Given the description of an element on the screen output the (x, y) to click on. 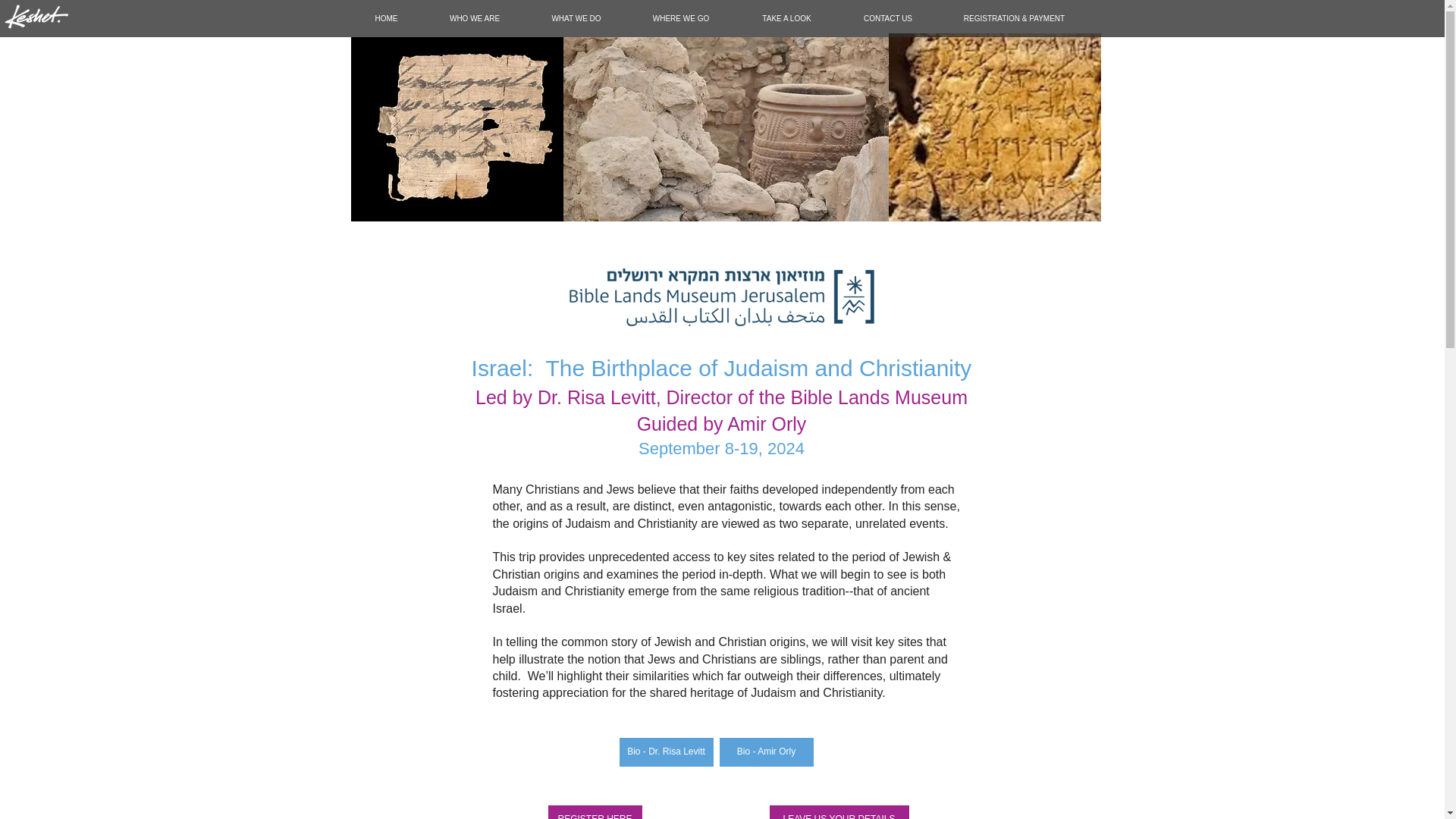
CONTACT US (887, 18)
HOME (386, 18)
lithuania 2 (725, 128)
Latvia (994, 127)
Bio - Dr. Risa Levitt (665, 751)
WHERE WE GO (680, 18)
WHAT WE DO (576, 18)
WHO WE ARE (474, 18)
TAKE A LOOK (786, 18)
